Given the description of an element on the screen output the (x, y) to click on. 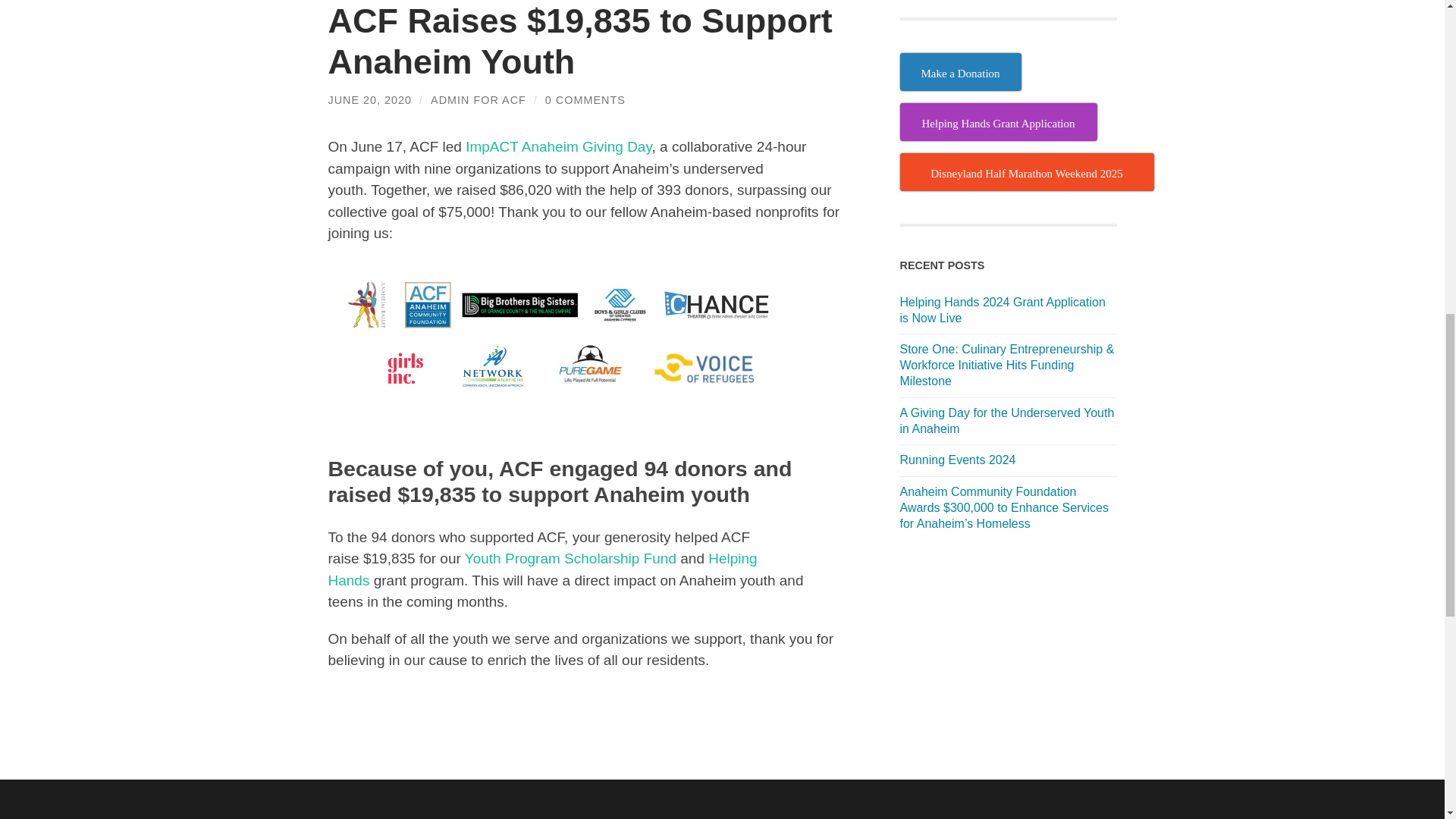
Posts by Admin for ACF (477, 100)
JUNE 20, 2020 (369, 100)
0 COMMENTS (585, 100)
Youth Program Scholarship Fund (570, 558)
ImpACT Anaheim Giving Day (557, 146)
ADMIN FOR ACF (477, 100)
